Given the description of an element on the screen output the (x, y) to click on. 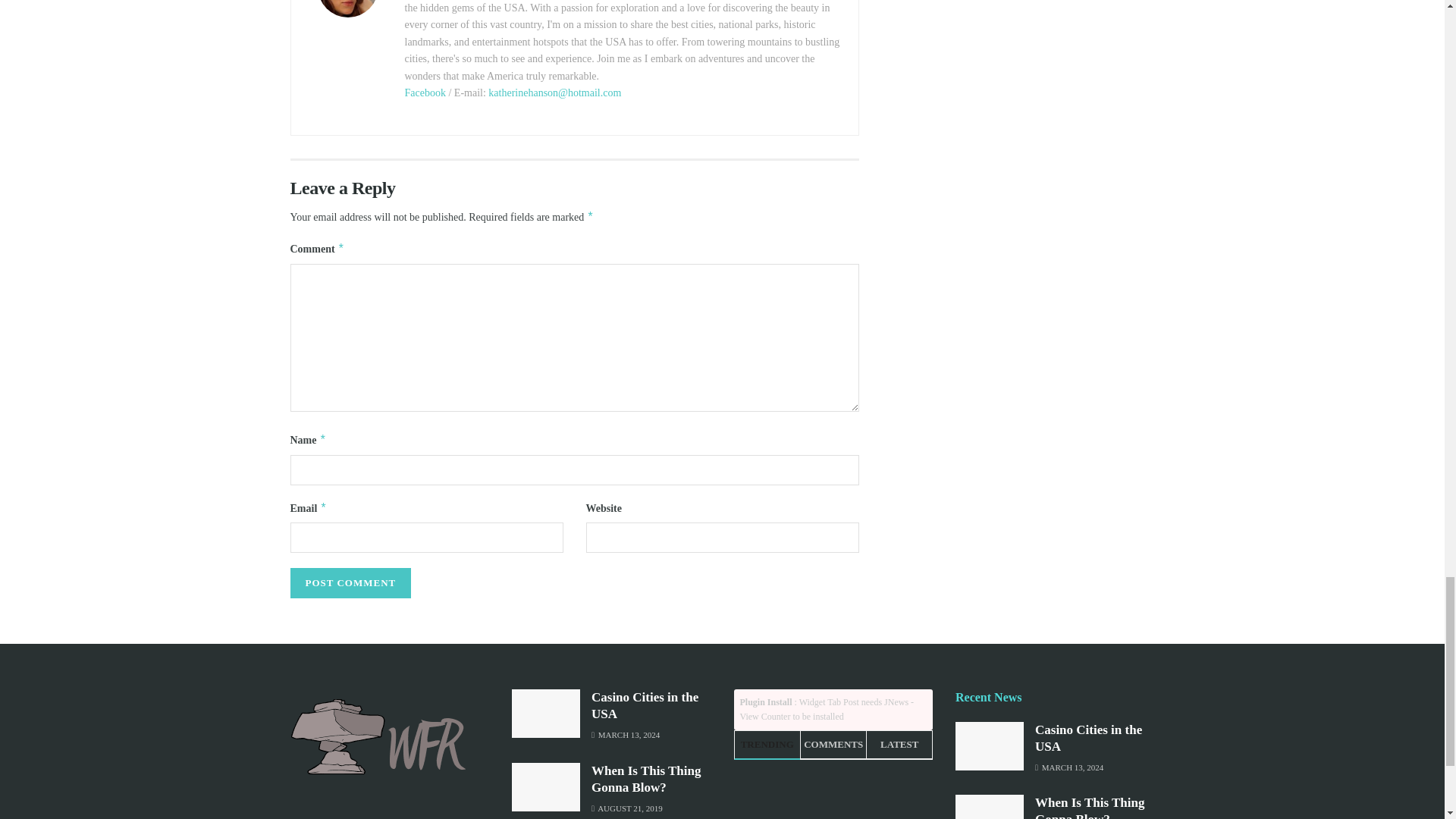
When Is This Thing Gonna Blow? (645, 778)
Casino Cities in the USA (644, 705)
Post Comment (349, 583)
Facebook (424, 92)
Post Comment (349, 583)
